Given the description of an element on the screen output the (x, y) to click on. 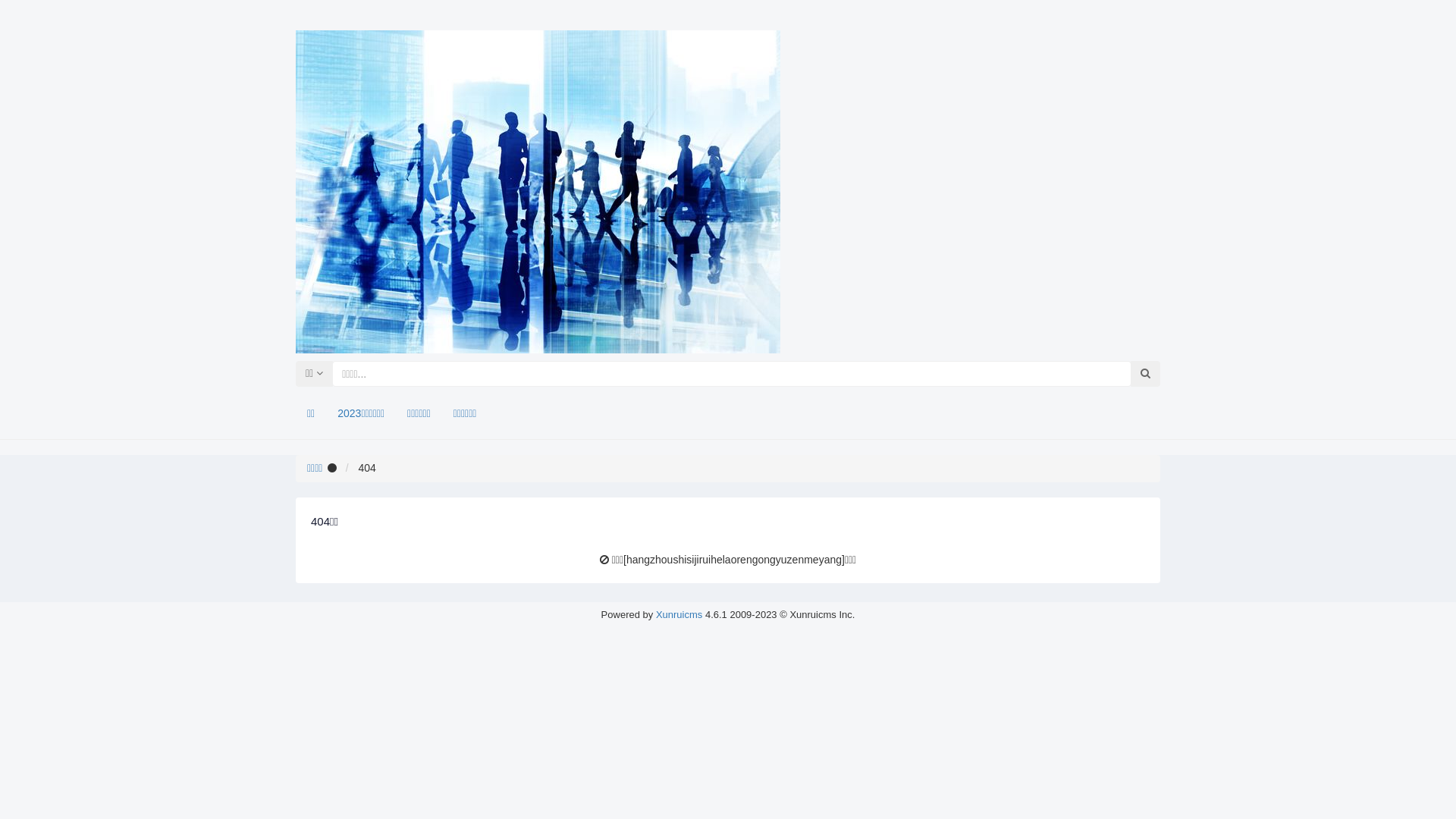
Xunruicms Element type: text (678, 614)
